Given the description of an element on the screen output the (x, y) to click on. 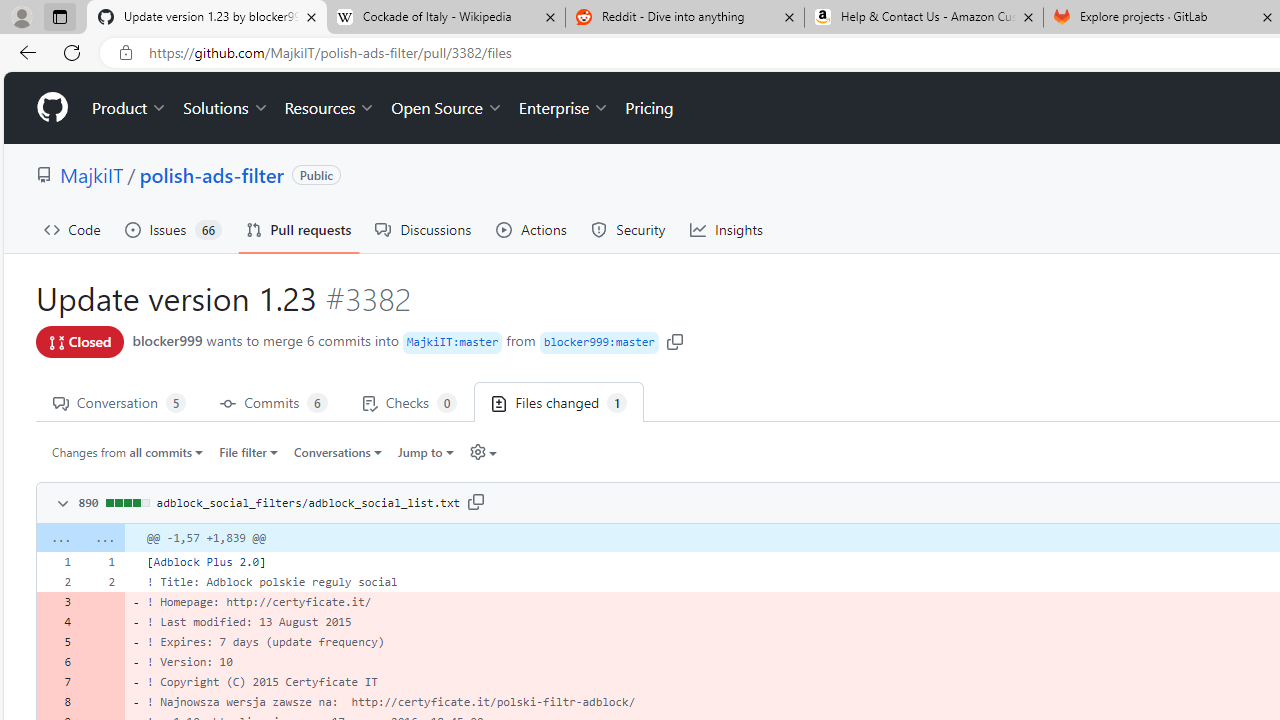
polish-ads-filter (211, 174)
Enterprise (563, 107)
Product (130, 107)
Homepage (51, 107)
... (102, 538)
6 (58, 661)
Enterprise (563, 107)
Pull requests (298, 229)
7 (58, 681)
Resources (330, 107)
File filter (248, 451)
Discussions (424, 229)
